Given the description of an element on the screen output the (x, y) to click on. 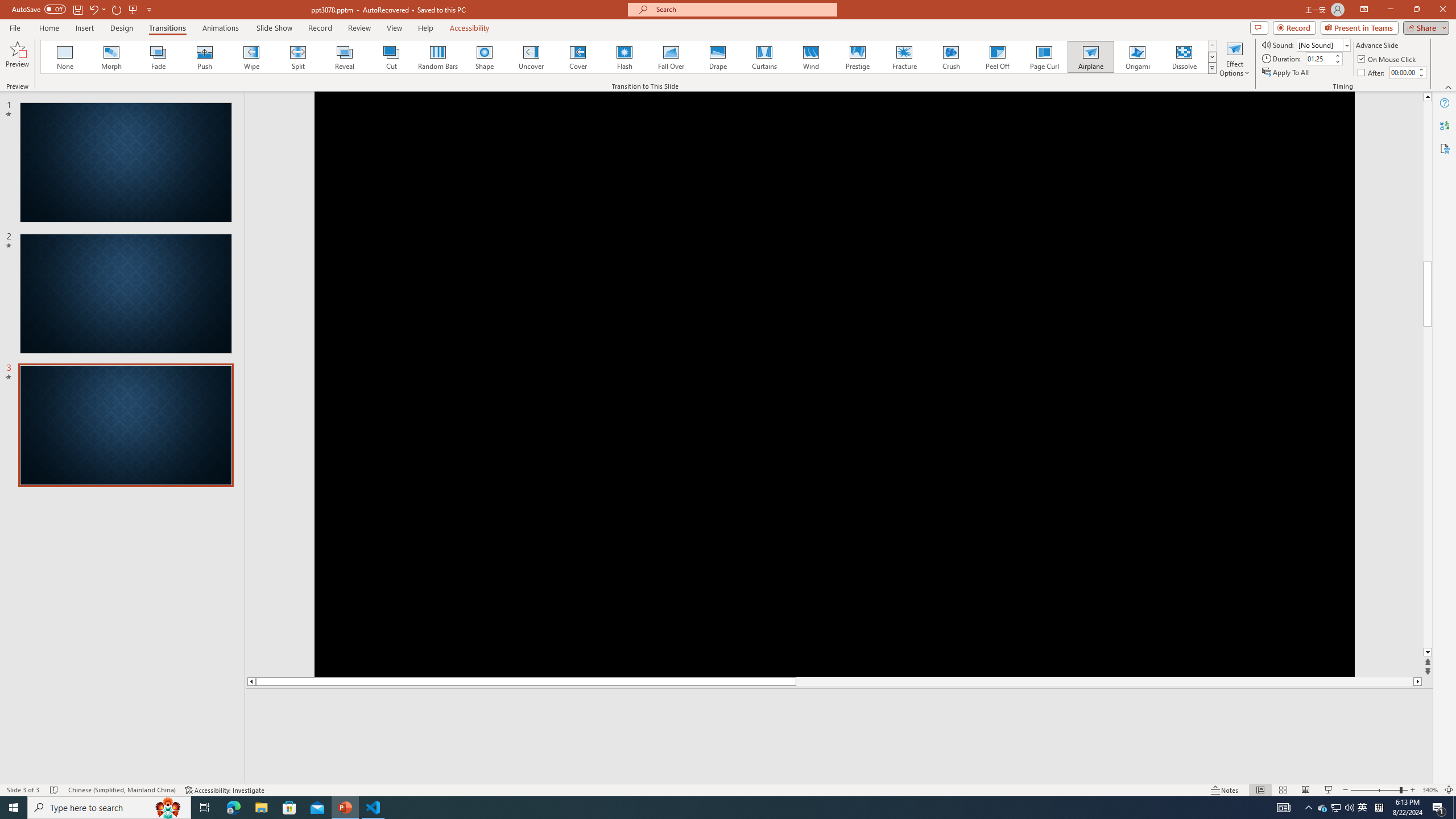
Curtains (764, 56)
Sound (1324, 44)
Flash (624, 56)
Transition Effects (1212, 67)
Dissolve (1183, 56)
